Given the description of an element on the screen output the (x, y) to click on. 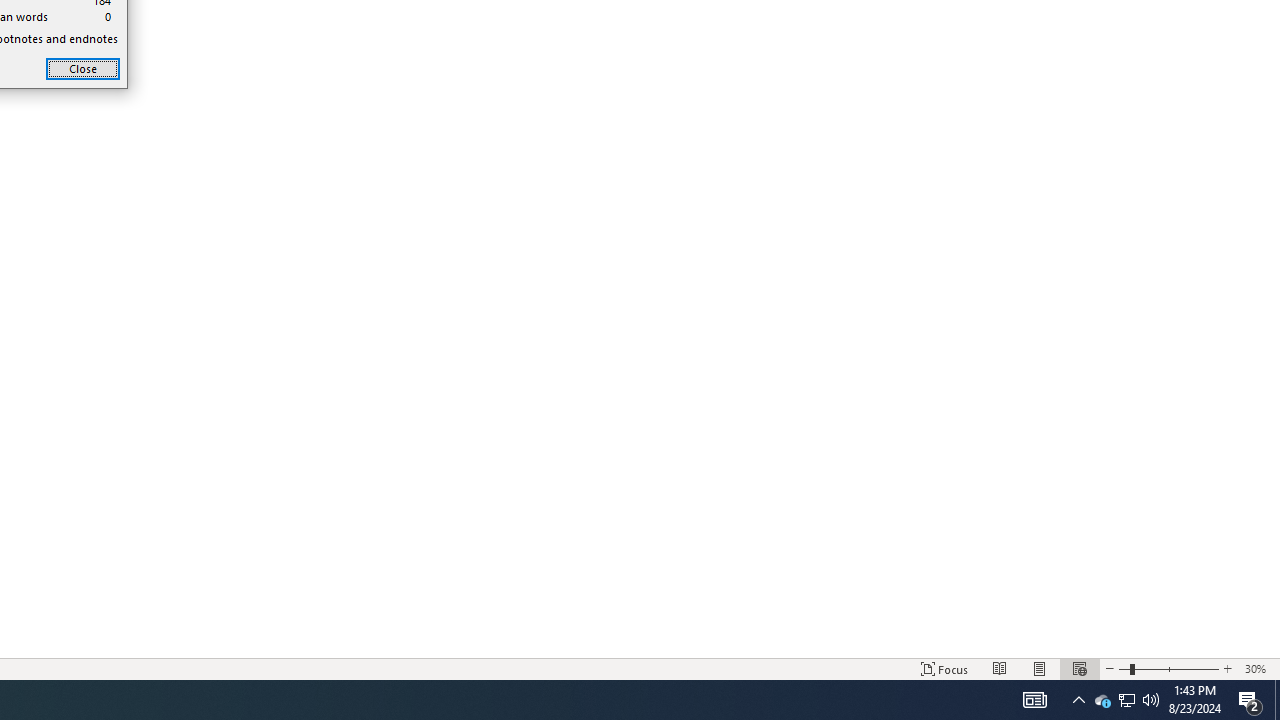
Read Mode (1000, 668)
Zoom 30% (1258, 668)
Q2790: 100% (1151, 699)
User Promoted Notification Area (1126, 699)
Zoom (1168, 668)
Print Layout (1039, 668)
AutomationID: 4105 (1034, 699)
Close (1126, 699)
Show desktop (82, 68)
Focus  (1277, 699)
Zoom Out (944, 668)
Web Layout (1124, 668)
Zoom In (1079, 668)
